Given the description of an element on the screen output the (x, y) to click on. 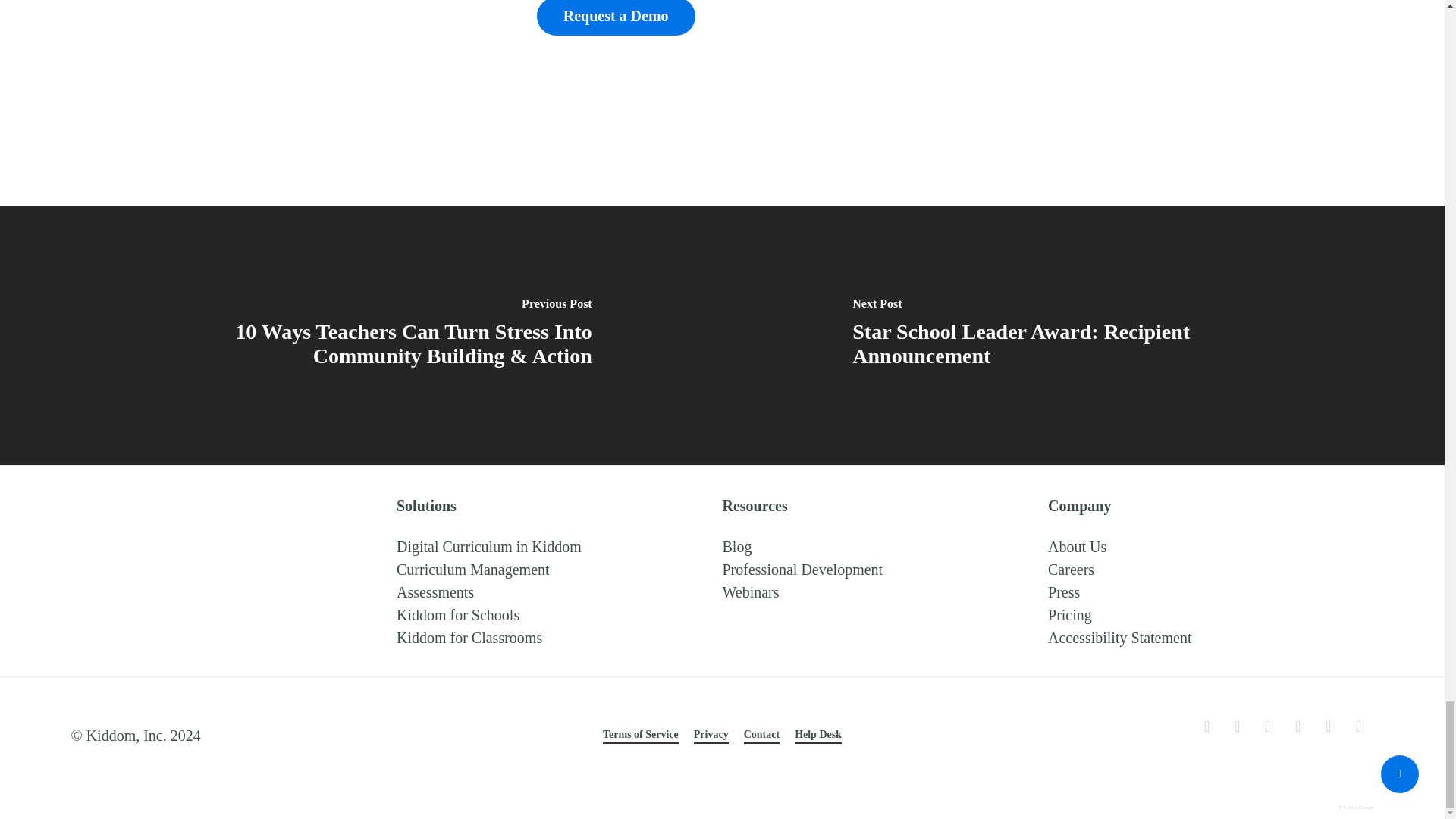
Personalize Learning (473, 569)
Press (1064, 591)
About Us (1077, 546)
Kiddom for Schools (457, 614)
Pricing (1070, 614)
Professional Development (802, 569)
Blog (736, 546)
Kiddom for Classrooms (468, 637)
Early Warning System (435, 591)
Webinars (750, 591)
Manage Curriculum (488, 546)
